Given the description of an element on the screen output the (x, y) to click on. 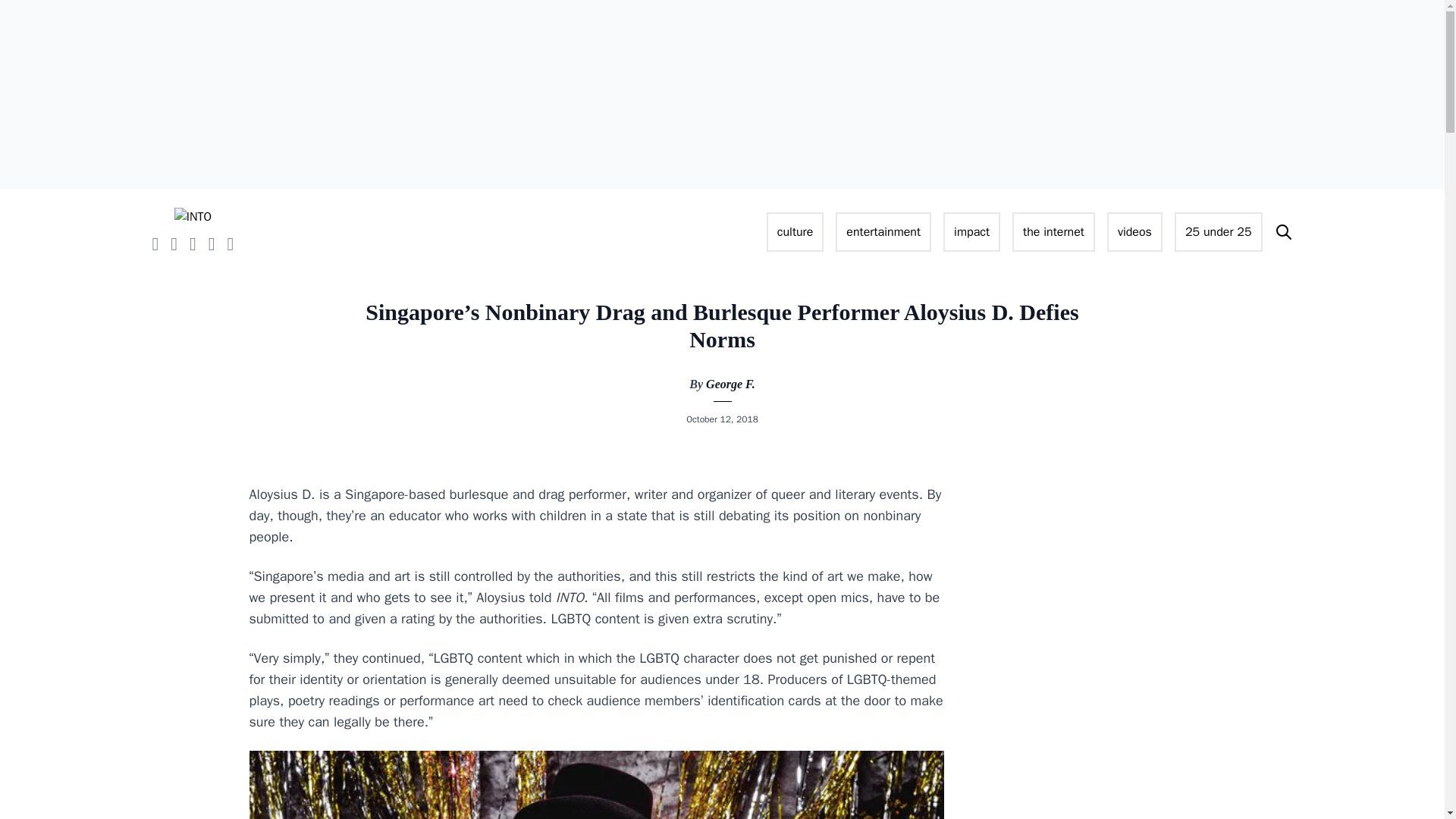
culture (795, 231)
videos (1133, 231)
entertainment (883, 231)
George F. (730, 383)
25 under 25 (1218, 231)
impact (971, 231)
the internet (1052, 231)
